Given the description of an element on the screen output the (x, y) to click on. 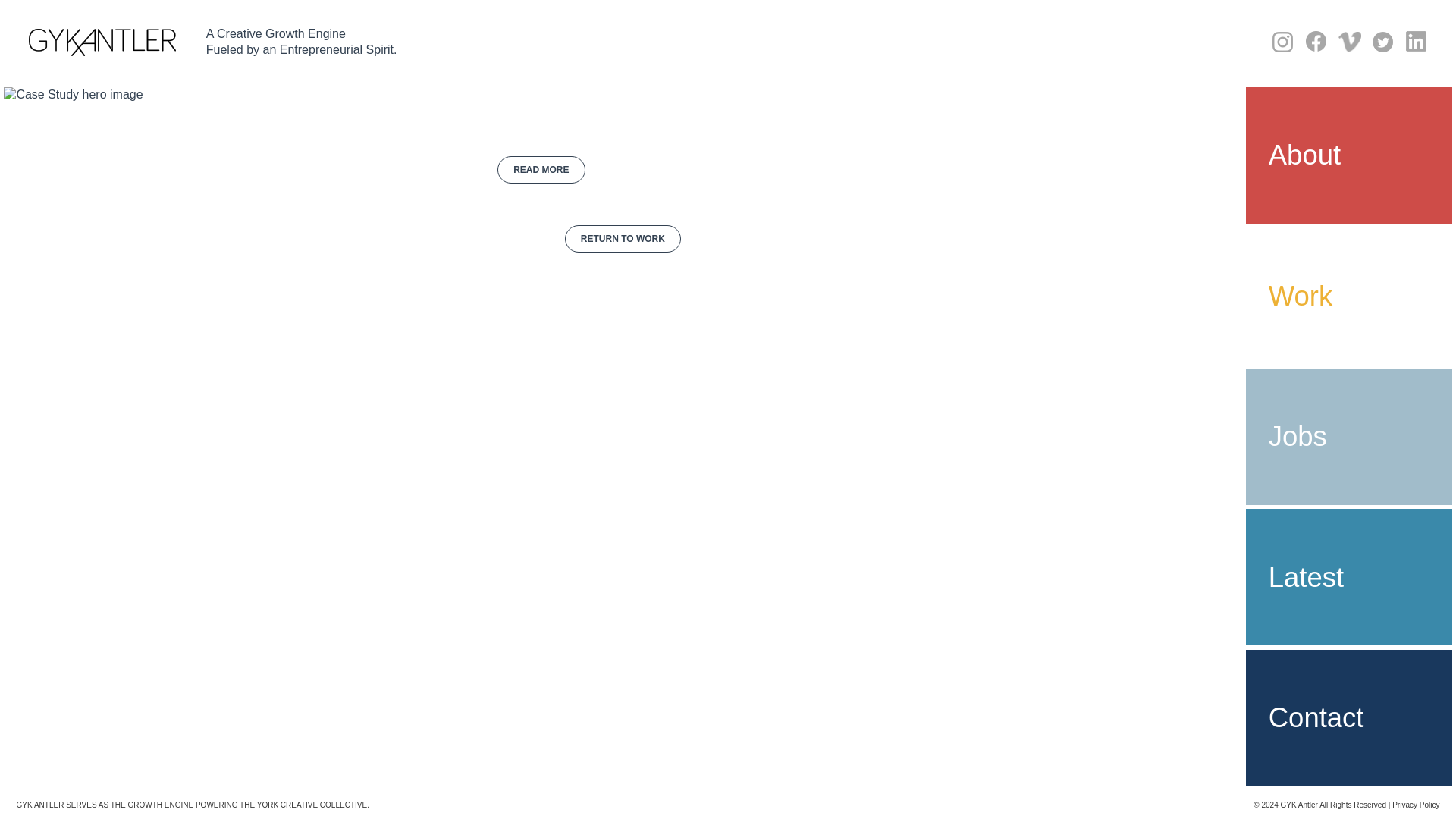
Privacy Policy (1415, 804)
READ MORE (541, 169)
RETURN TO WORK (622, 238)
THE YORK CREATIVE COLLECTIVE (303, 804)
